Given the description of an element on the screen output the (x, y) to click on. 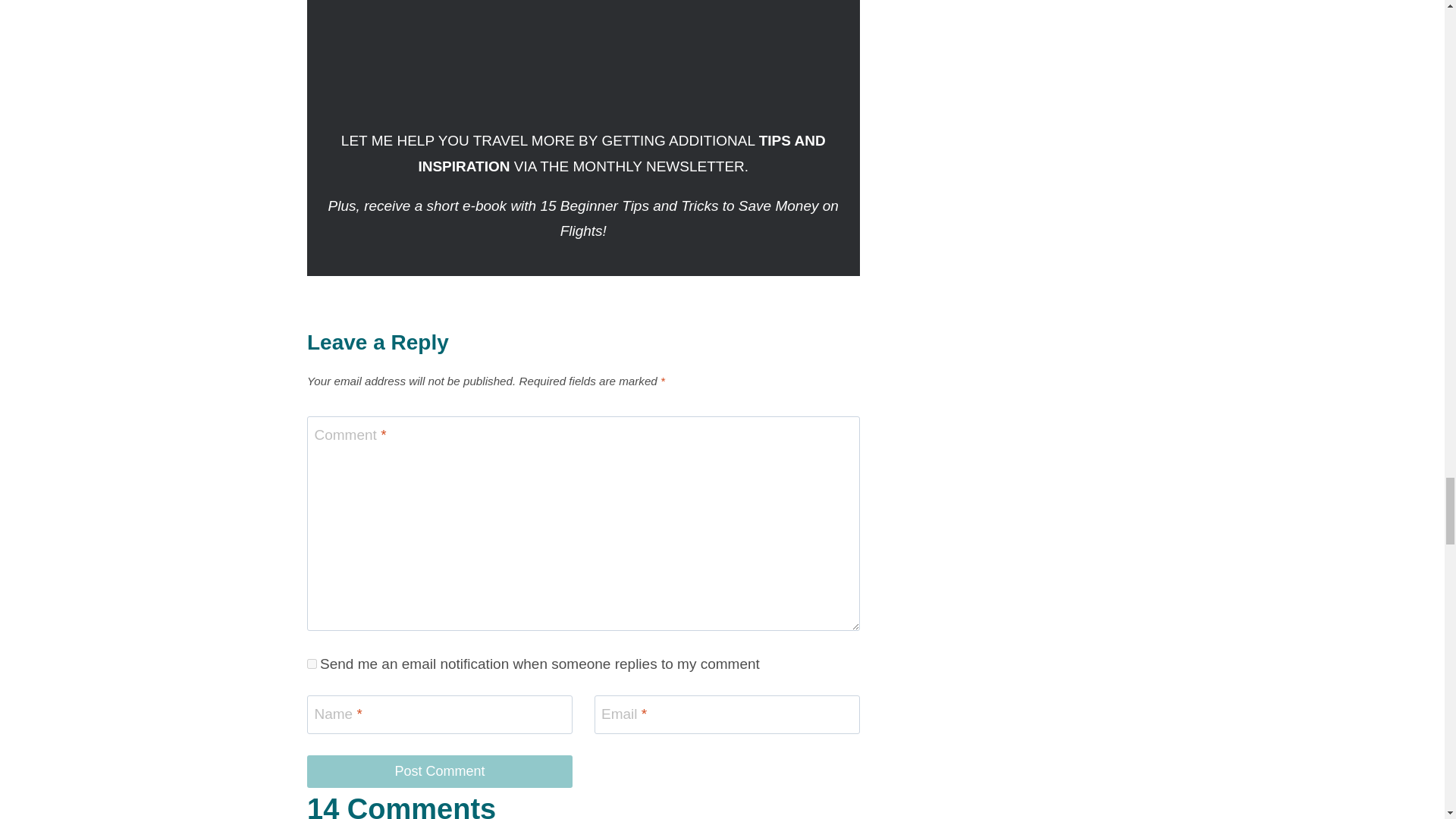
1 (312, 664)
Post Comment (439, 771)
Post Comment (439, 771)
